Given the description of an element on the screen output the (x, y) to click on. 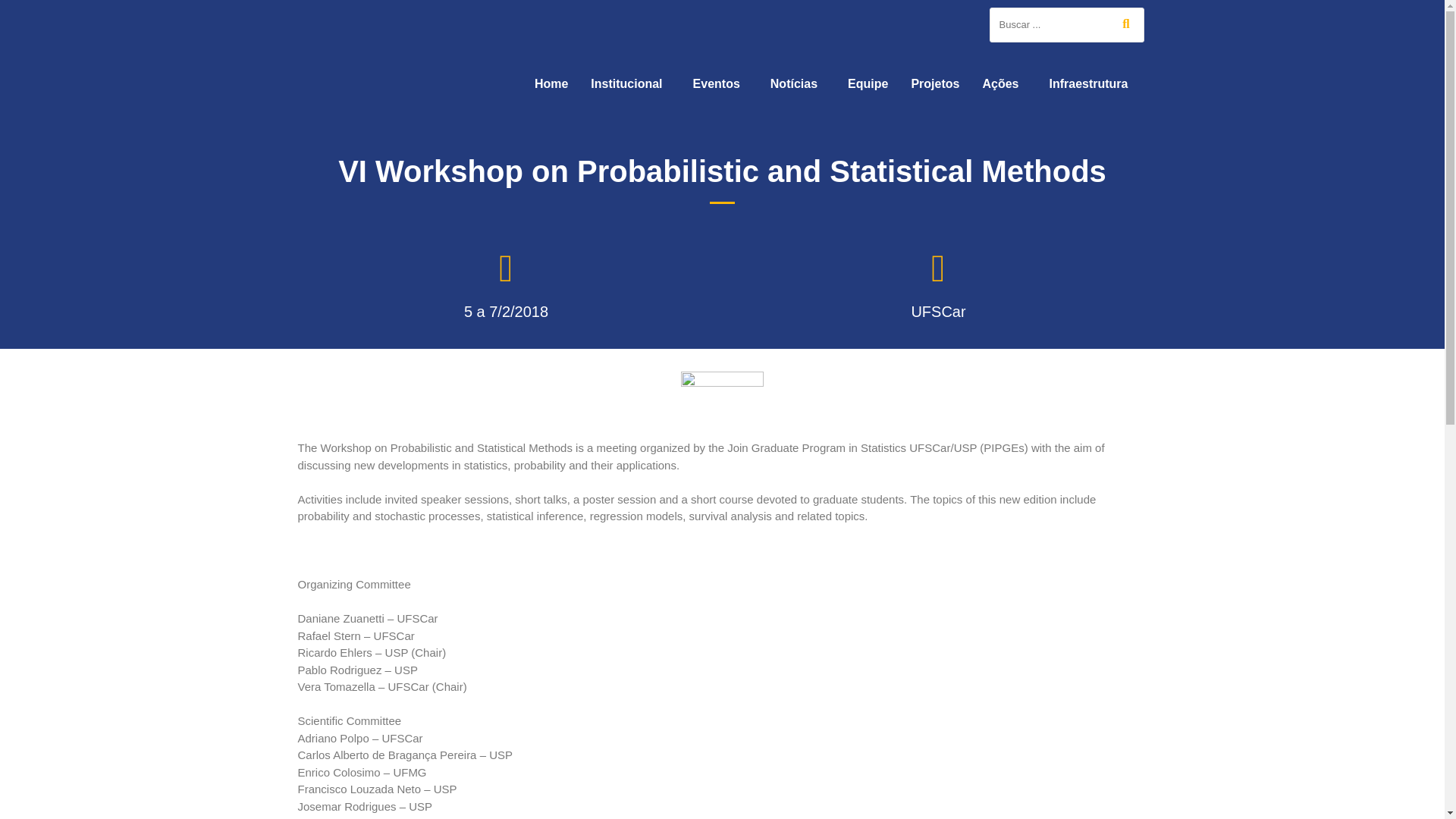
Institucional (630, 83)
Projetos (935, 83)
Home (550, 83)
Equipe (867, 83)
Eventos (719, 83)
Infraestrutura (1091, 83)
